Given the description of an element on the screen output the (x, y) to click on. 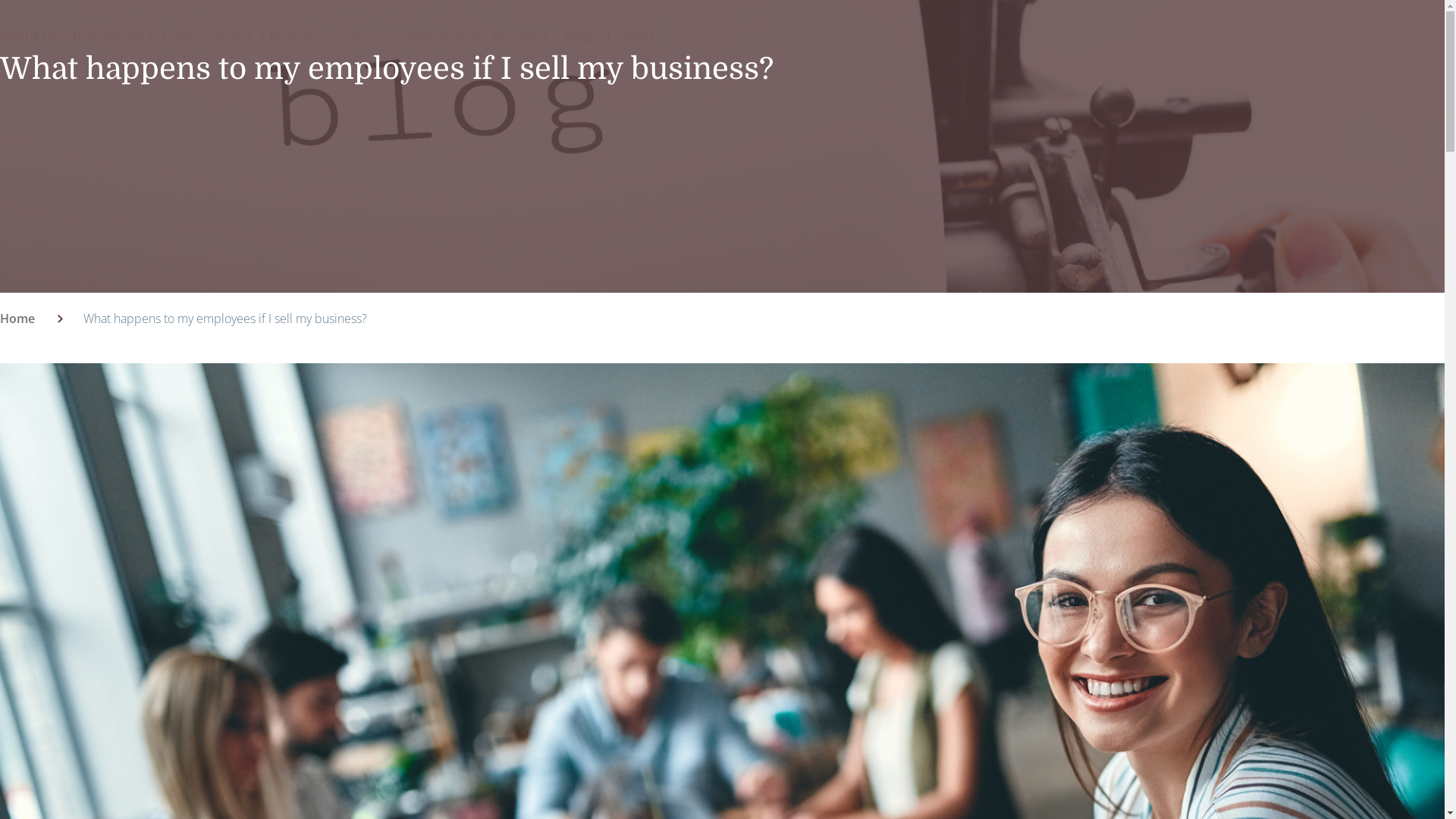
About Us Element type: text (29, 35)
Businesses for Sale Element type: text (134, 35)
Blog Element type: text (577, 35)
Selling a Business Element type: text (268, 35)
Services Element type: text (367, 35)
Appraise my Business Element type: text (478, 35)
Contact Element type: text (630, 35)
Home Element type: text (17, 318)
